Given the description of an element on the screen output the (x, y) to click on. 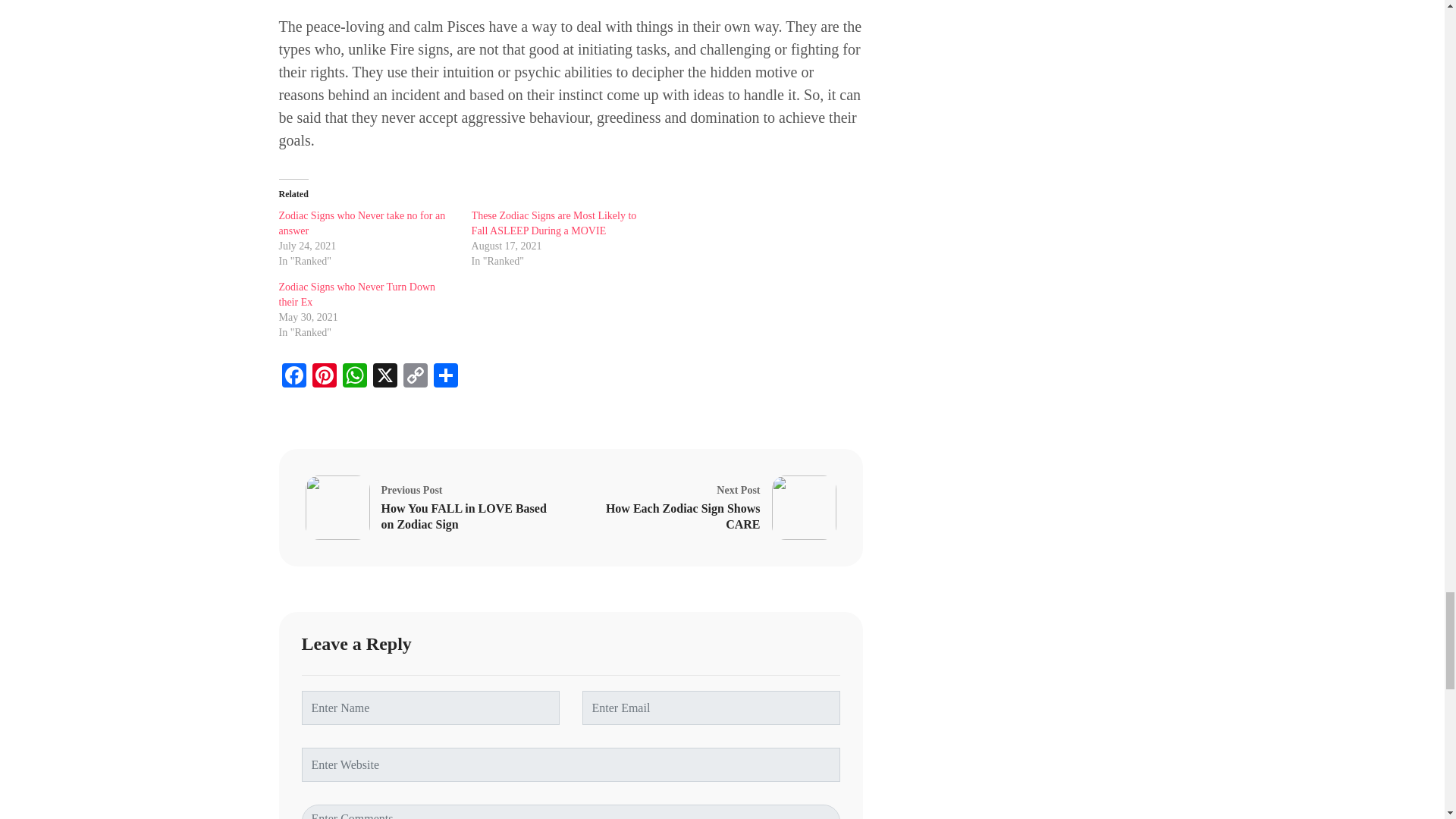
Pinterest (323, 377)
Facebook (293, 377)
X (384, 377)
WhatsApp (354, 377)
Zodiac Signs who Never take no for an answer (365, 223)
Zodiac Signs who Never Turn Down their Ex (365, 295)
Copy Link (415, 377)
